Given the description of an element on the screen output the (x, y) to click on. 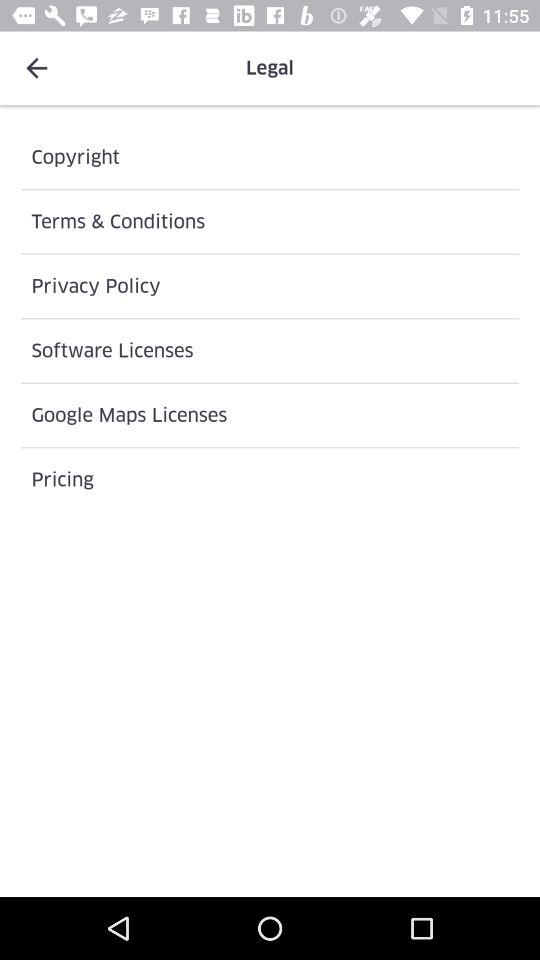
press the item next to legal (36, 68)
